Given the description of an element on the screen output the (x, y) to click on. 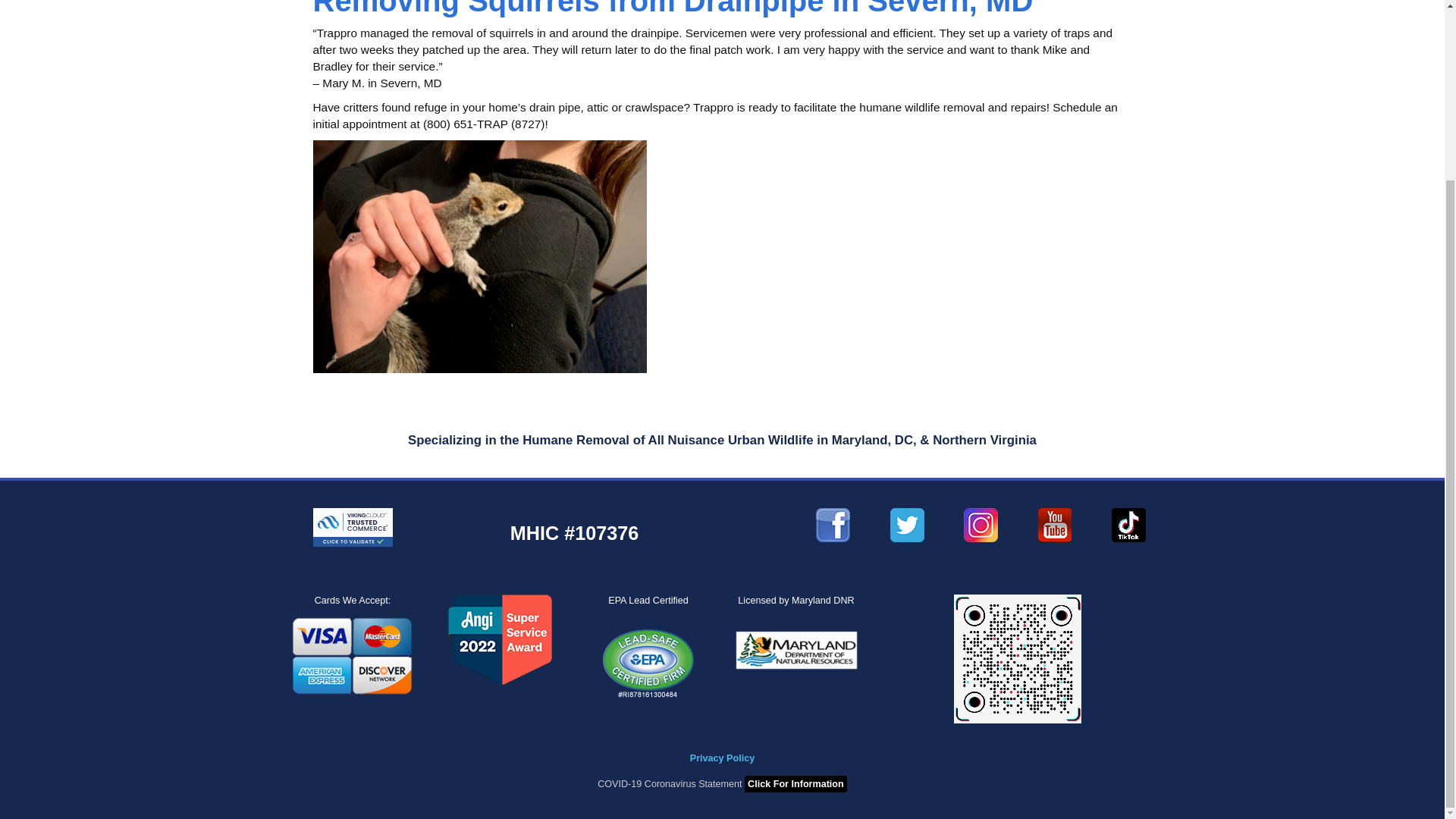
Removing Squirrels from Drainpipe in Severn, MD (672, 8)
TikTok (1017, 658)
Privacy Policy (722, 757)
Removing Squirrels from Drainpipe in Severn, MD (672, 8)
